Given the description of an element on the screen output the (x, y) to click on. 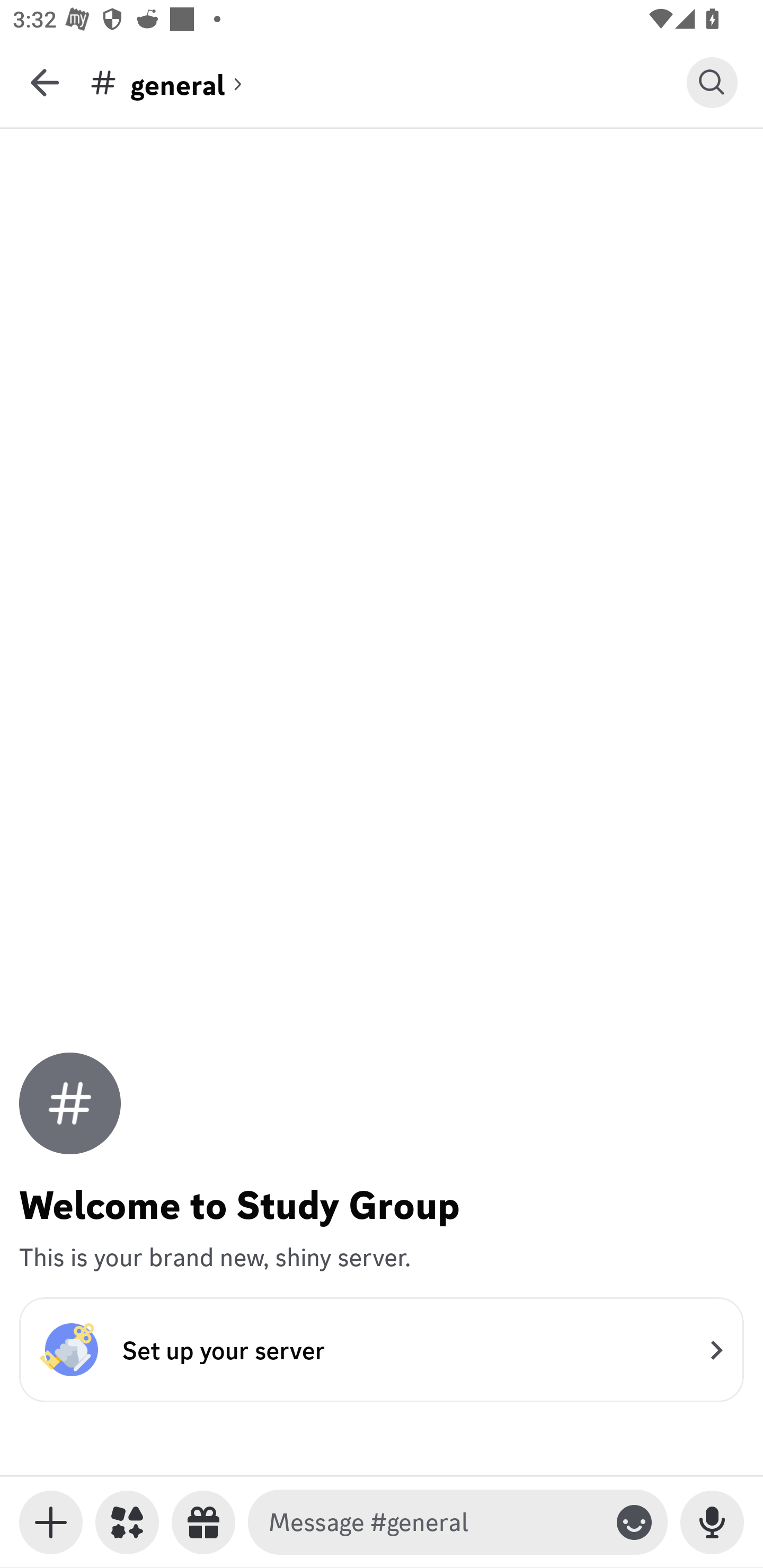
general (channel) general general (channel) (387, 82)
Back (44, 82)
Search (711, 82)
Set up your server (381, 1348)
Toggle media keyboard (50, 1522)
Apps (126, 1522)
Send a gift (203, 1522)
Record Voice Message (711, 1522)
Message #general (433, 1522)
Toggle emoji keyboard (634, 1522)
